Given the description of an element on the screen output the (x, y) to click on. 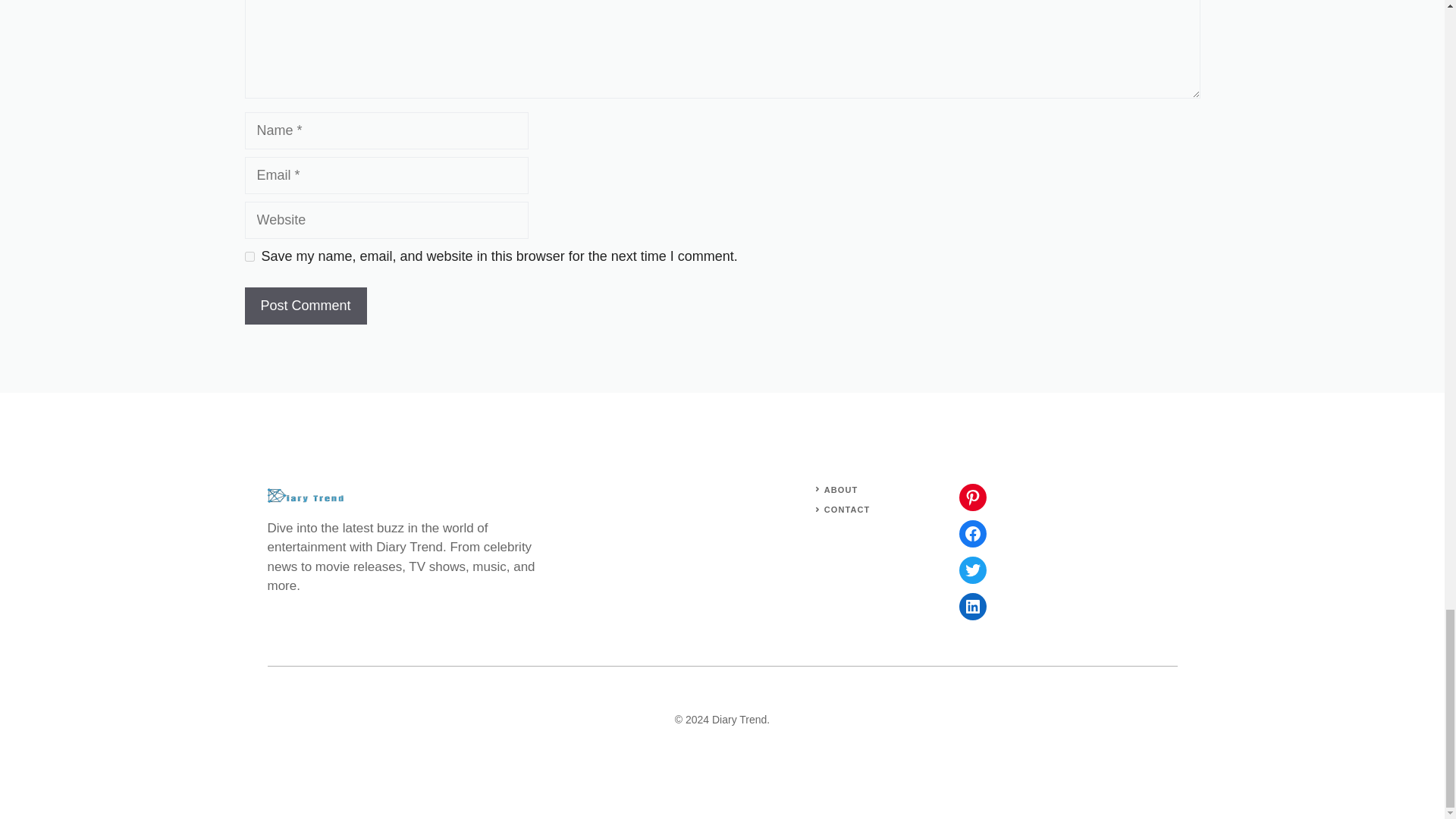
LinkedIn (971, 605)
Diary Trend (739, 719)
CONTACT (847, 509)
Facebook (971, 533)
Twitter (971, 569)
ABOUT (841, 489)
yes (248, 256)
Pinterest (971, 497)
Post Comment (305, 305)
Post Comment (305, 305)
